Given the description of an element on the screen output the (x, y) to click on. 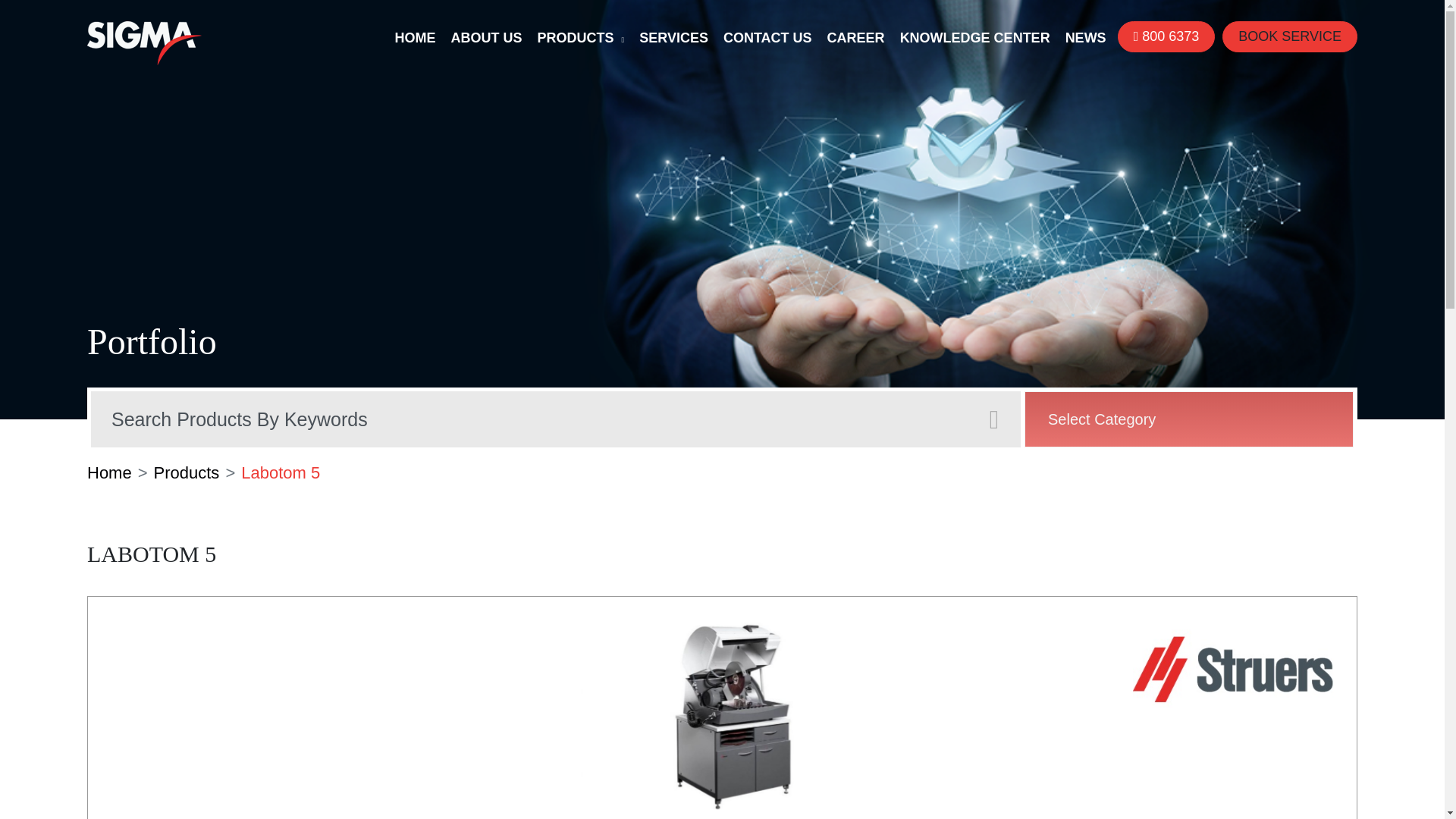
BOOK SERVICE (1289, 36)
800 6373 (1166, 36)
Select Category (1189, 419)
ABOUT US (486, 38)
HOME (414, 38)
PRODUCTS (580, 38)
